Given the description of an element on the screen output the (x, y) to click on. 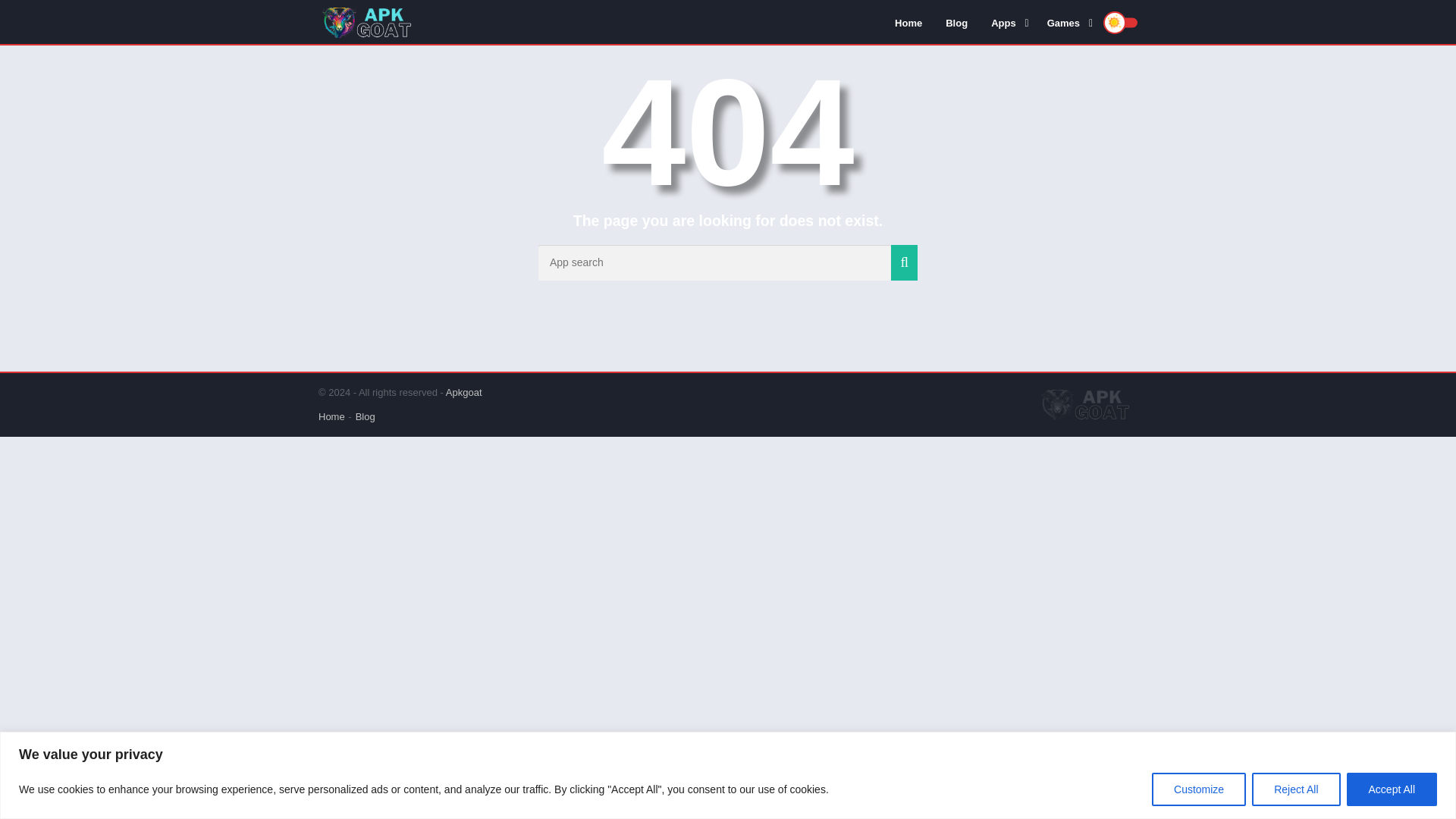
Games (1067, 22)
Home (908, 22)
Apps (1007, 22)
Blog (956, 22)
